Given the description of an element on the screen output the (x, y) to click on. 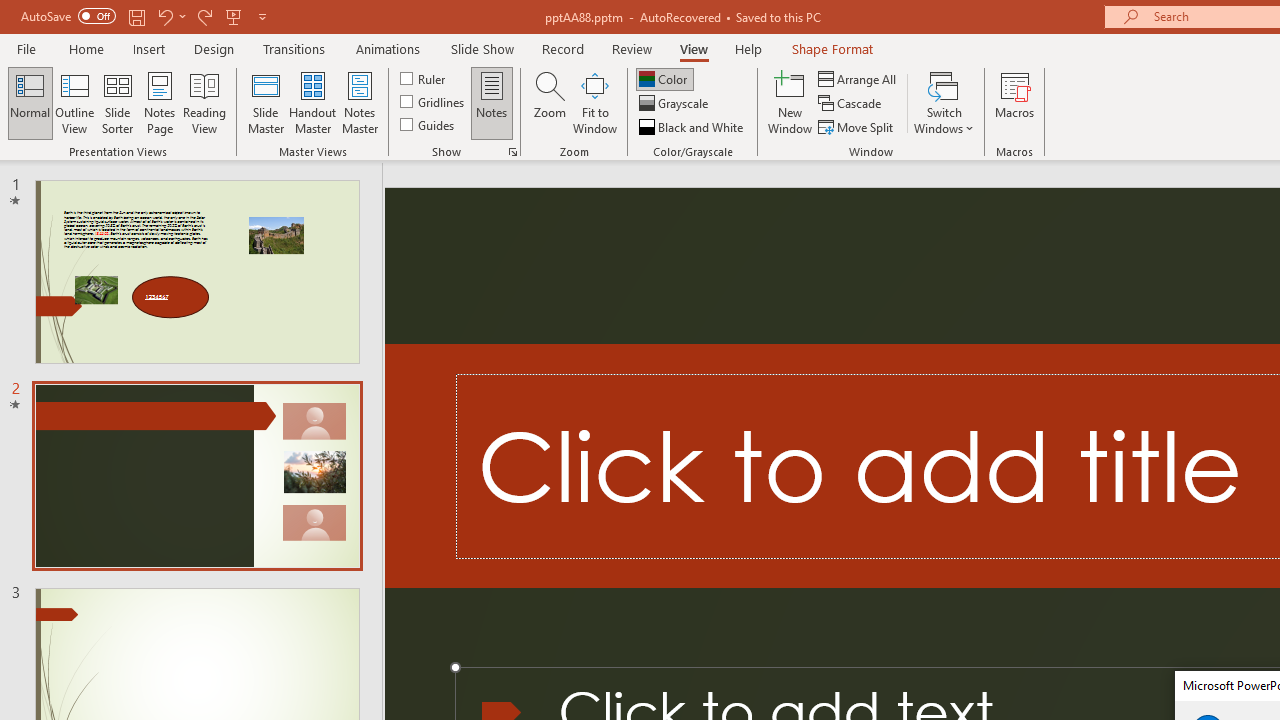
Color (664, 78)
Gridlines (433, 101)
Macros (1014, 102)
Fit to Window (594, 102)
Notes (492, 102)
Move Split (857, 126)
